Given the description of an element on the screen output the (x, y) to click on. 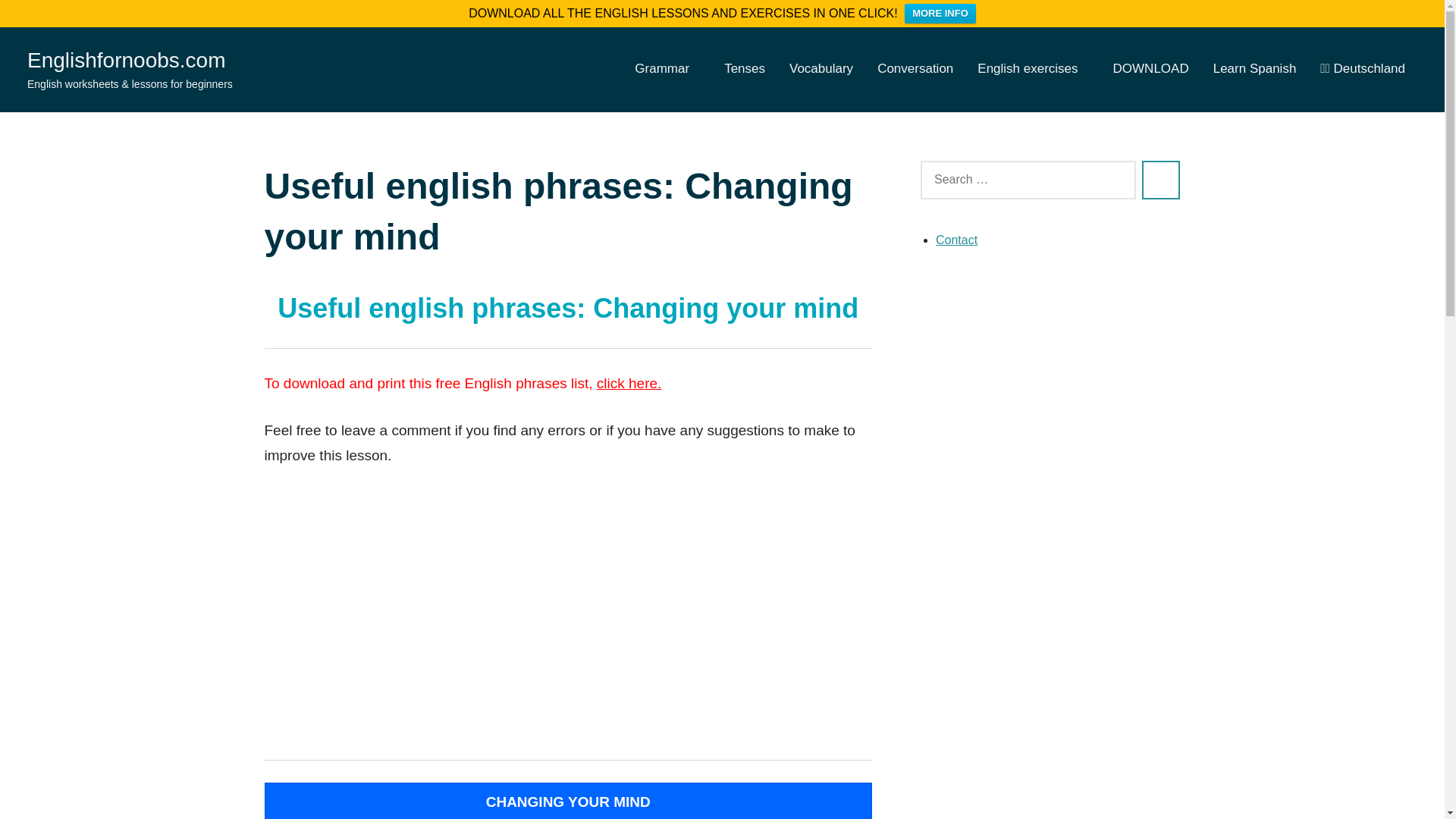
Contact (956, 239)
Conversation (915, 69)
Vocabulary (821, 69)
click here. (629, 383)
Englishfornoobs.com (126, 60)
Tenses (744, 69)
DOWNLOAD (1151, 69)
Search for: (1027, 179)
MORE INFO (939, 13)
English exercises (1031, 69)
